Given the description of an element on the screen output the (x, y) to click on. 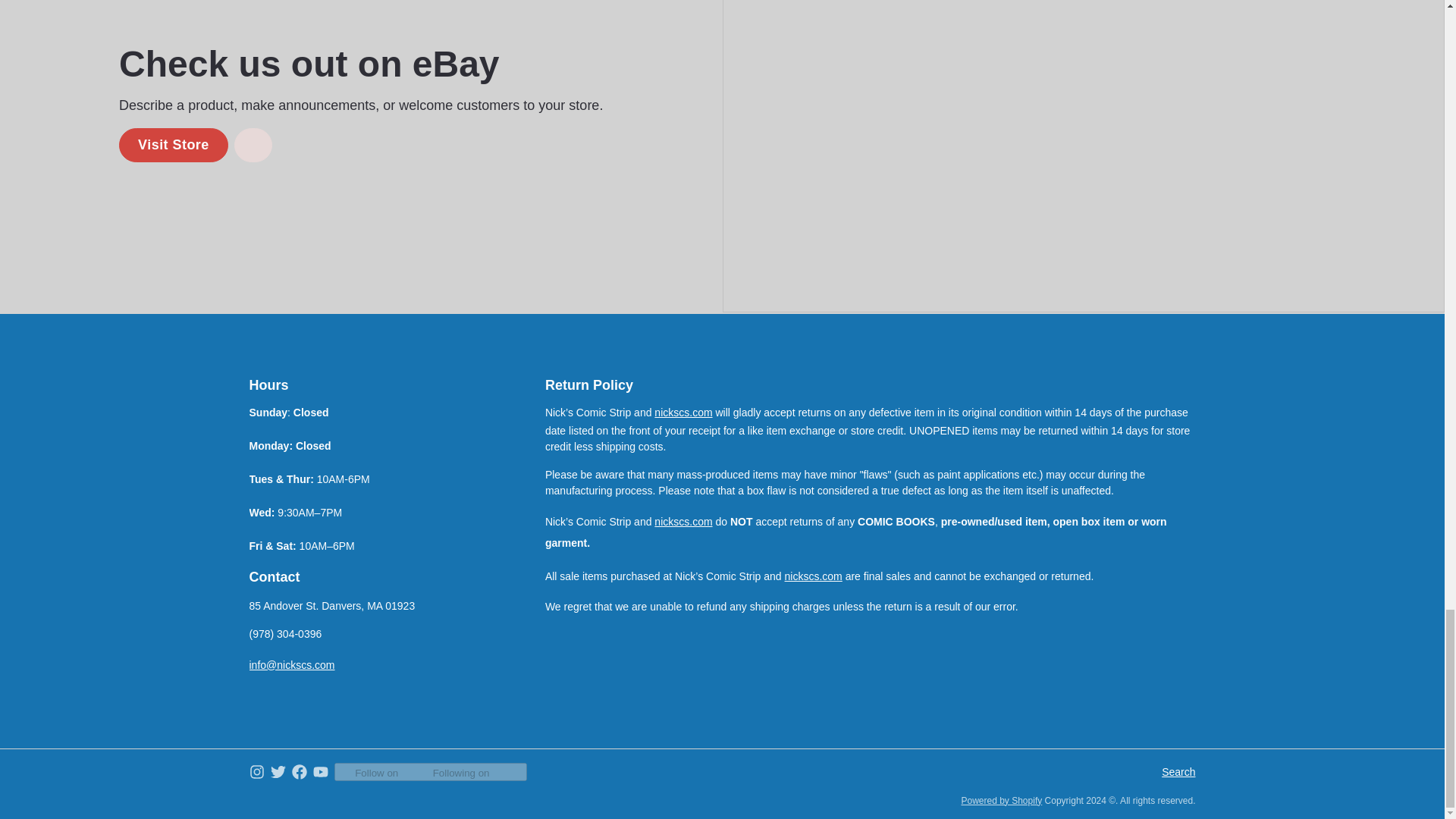
Twitter (277, 770)
Instagram (255, 770)
Facebook (298, 770)
YouTube (320, 770)
